Given the description of an element on the screen output the (x, y) to click on. 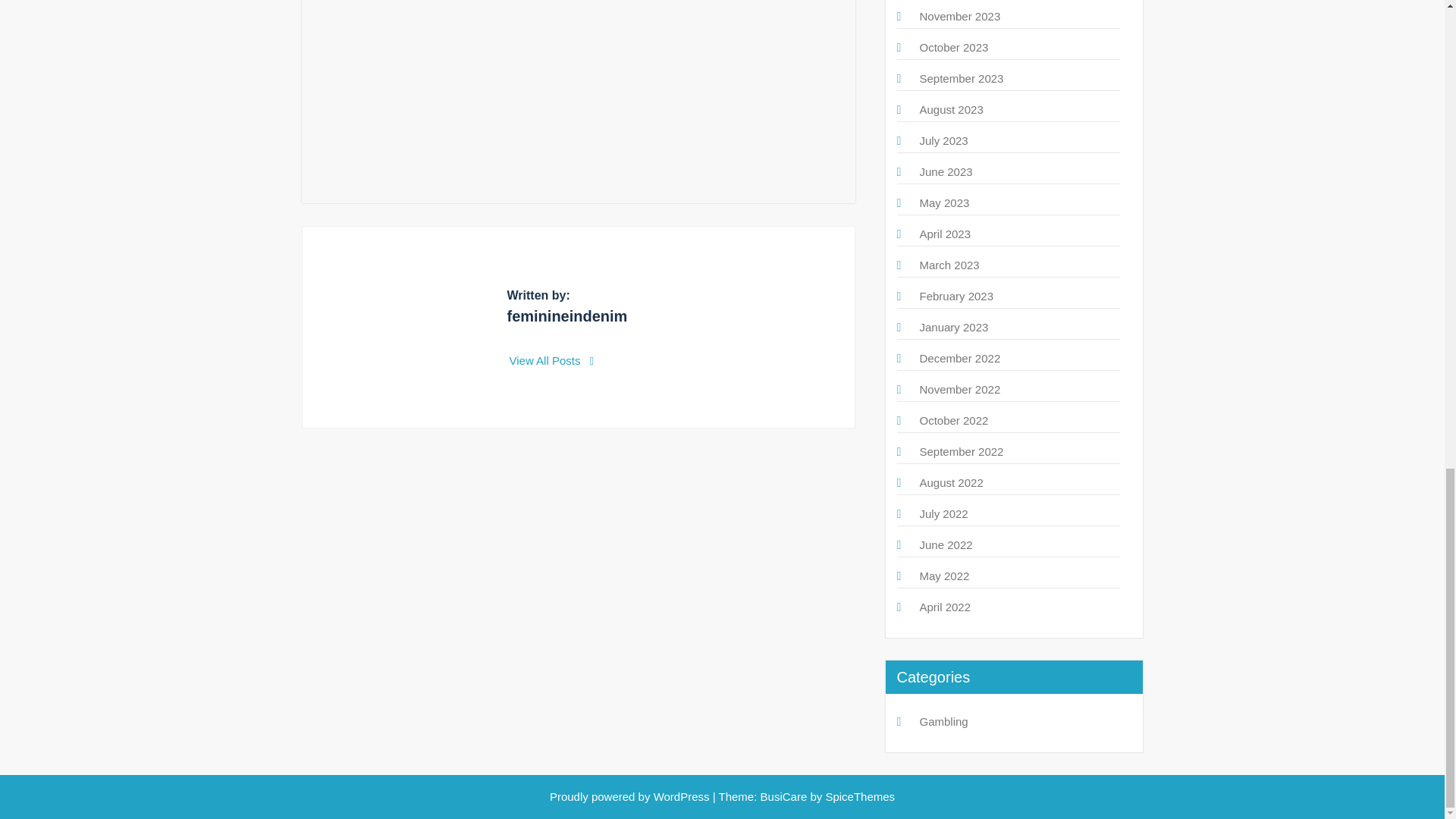
September 2022 (960, 451)
August 2022 (950, 481)
July 2023 (943, 140)
July 2022 (943, 513)
September 2023 (960, 78)
February 2023 (955, 295)
May 2023 (943, 202)
June 2023 (945, 171)
August 2023 (950, 109)
March 2023 (948, 264)
